Given the description of an element on the screen output the (x, y) to click on. 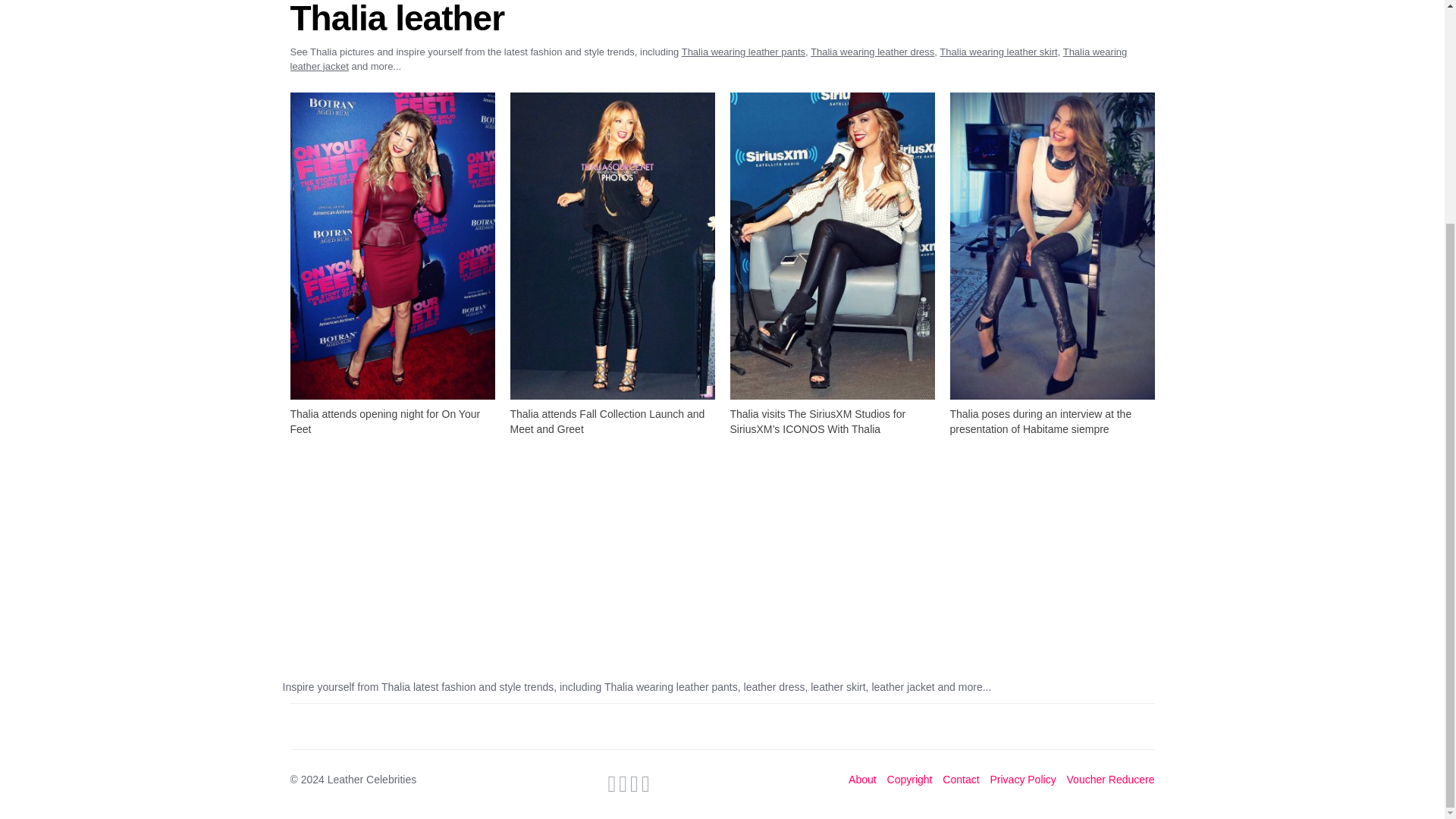
About (862, 780)
Voucher Reducere (1110, 780)
Thalia wearing leather skirt (998, 51)
Thalia wearing leather pants (743, 51)
Privacy Policy (1023, 780)
Thalia wearing leather jacket (707, 58)
Copyright (909, 780)
Thalia wearing leather dress (872, 51)
Contact (960, 780)
